Given the description of an element on the screen output the (x, y) to click on. 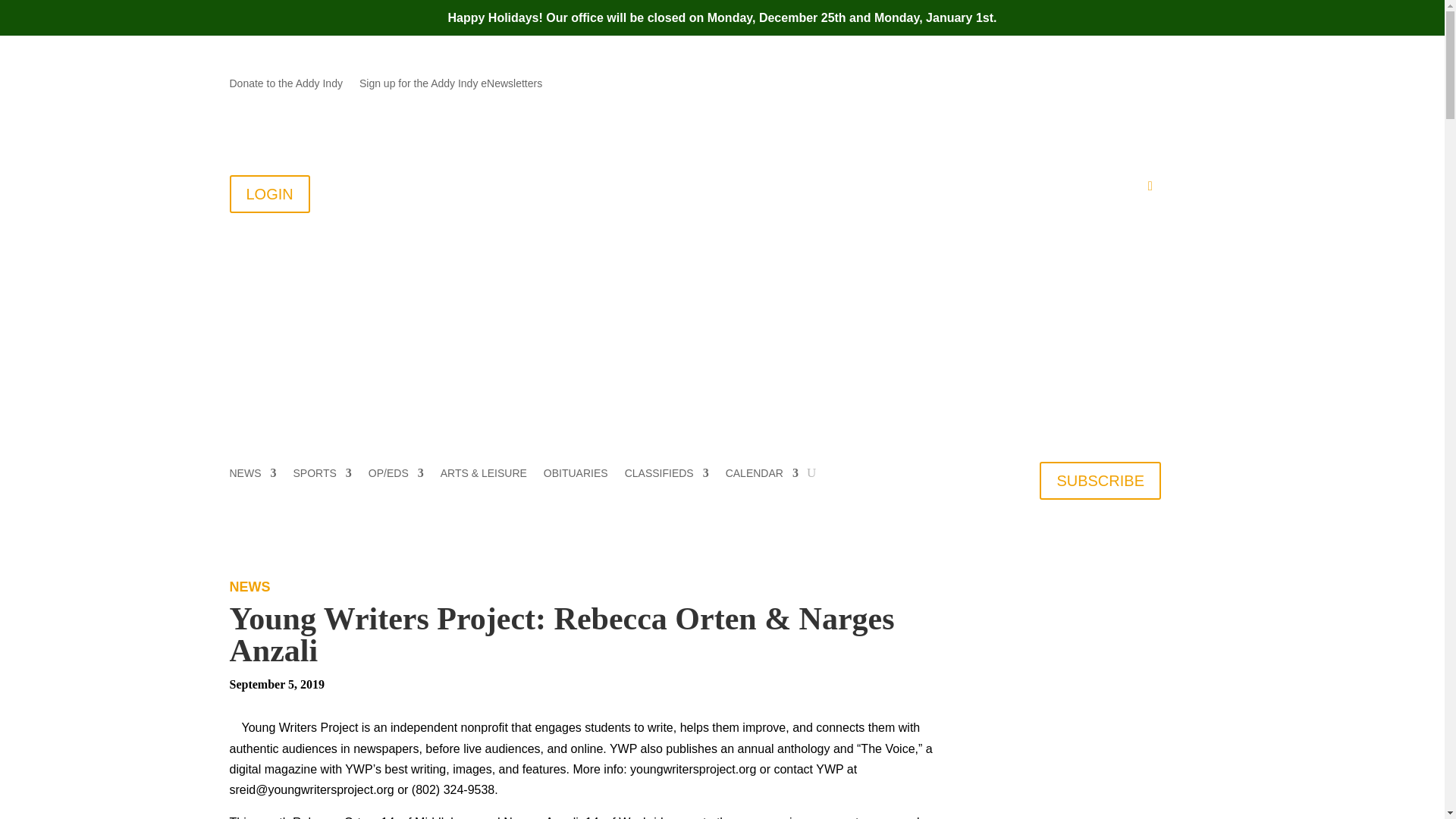
Advertise (944, 189)
My Account (1111, 189)
Follow on Mail (1057, 84)
LOGIN (268, 193)
Sign up for the Addy Indy eNewsletters (450, 86)
Join the Addy All-Stars! (751, 189)
addison-logo (418, 276)
Submissions (860, 189)
Follow on X (1118, 84)
About (590, 189)
Follow on Instagram (1148, 84)
Contact (653, 189)
PDF Editions (1029, 189)
Follow on Facebook (1087, 84)
3rd party ad content (1100, 699)
